Given the description of an element on the screen output the (x, y) to click on. 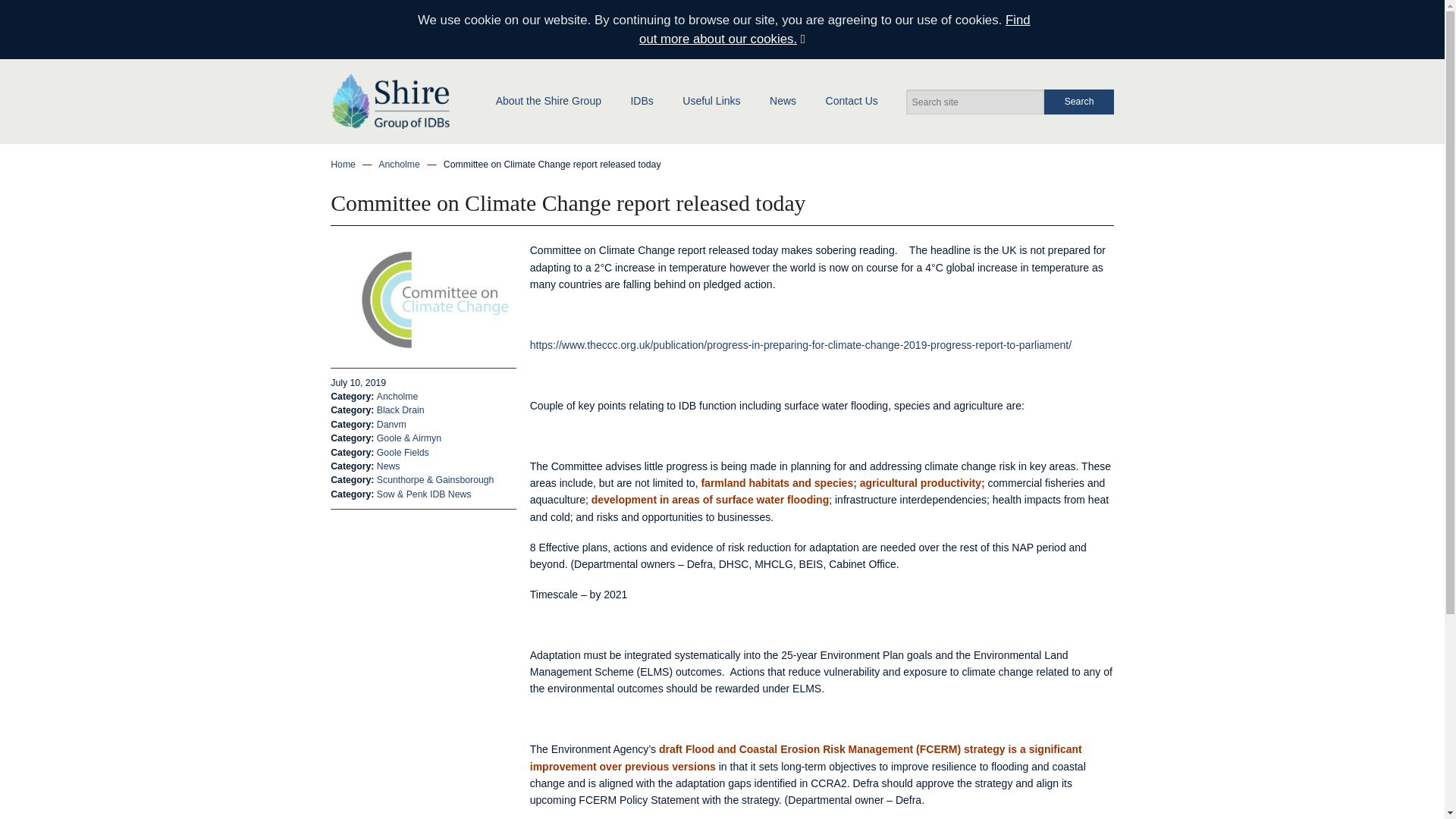
News (782, 99)
About the Shire Group (547, 99)
Goole Fields (403, 452)
News (388, 466)
Contact Us (851, 99)
Find out more about our cookies. (834, 29)
Useful Links (711, 99)
Ancholme (397, 396)
Search (1078, 101)
Danvm (391, 424)
